Given the description of an element on the screen output the (x, y) to click on. 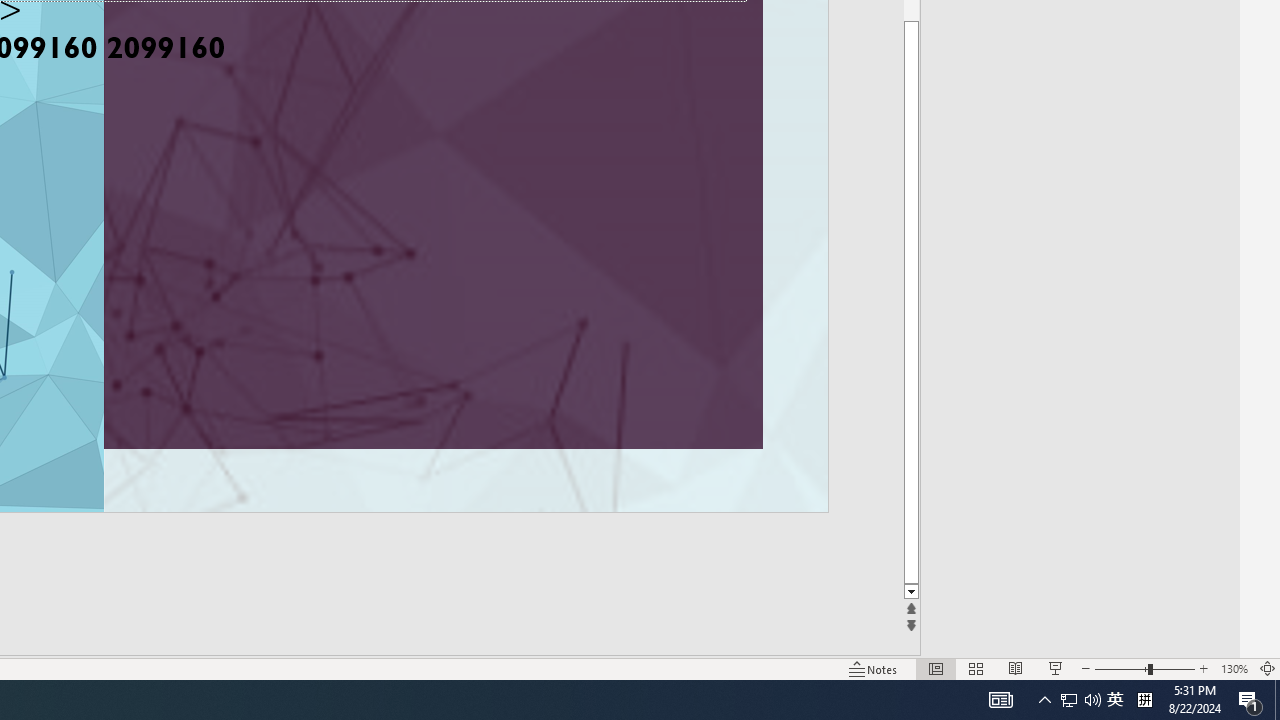
Zoom Out (1121, 668)
Normal (936, 668)
Slide Sorter (975, 668)
Slide Show (1055, 668)
Zoom to Fit  (1267, 668)
Notes  (874, 668)
Zoom In (1204, 668)
Reading View (1015, 668)
Zoom (1144, 668)
Zoom 130% (1234, 668)
Line down (911, 592)
